Given the description of an element on the screen output the (x, y) to click on. 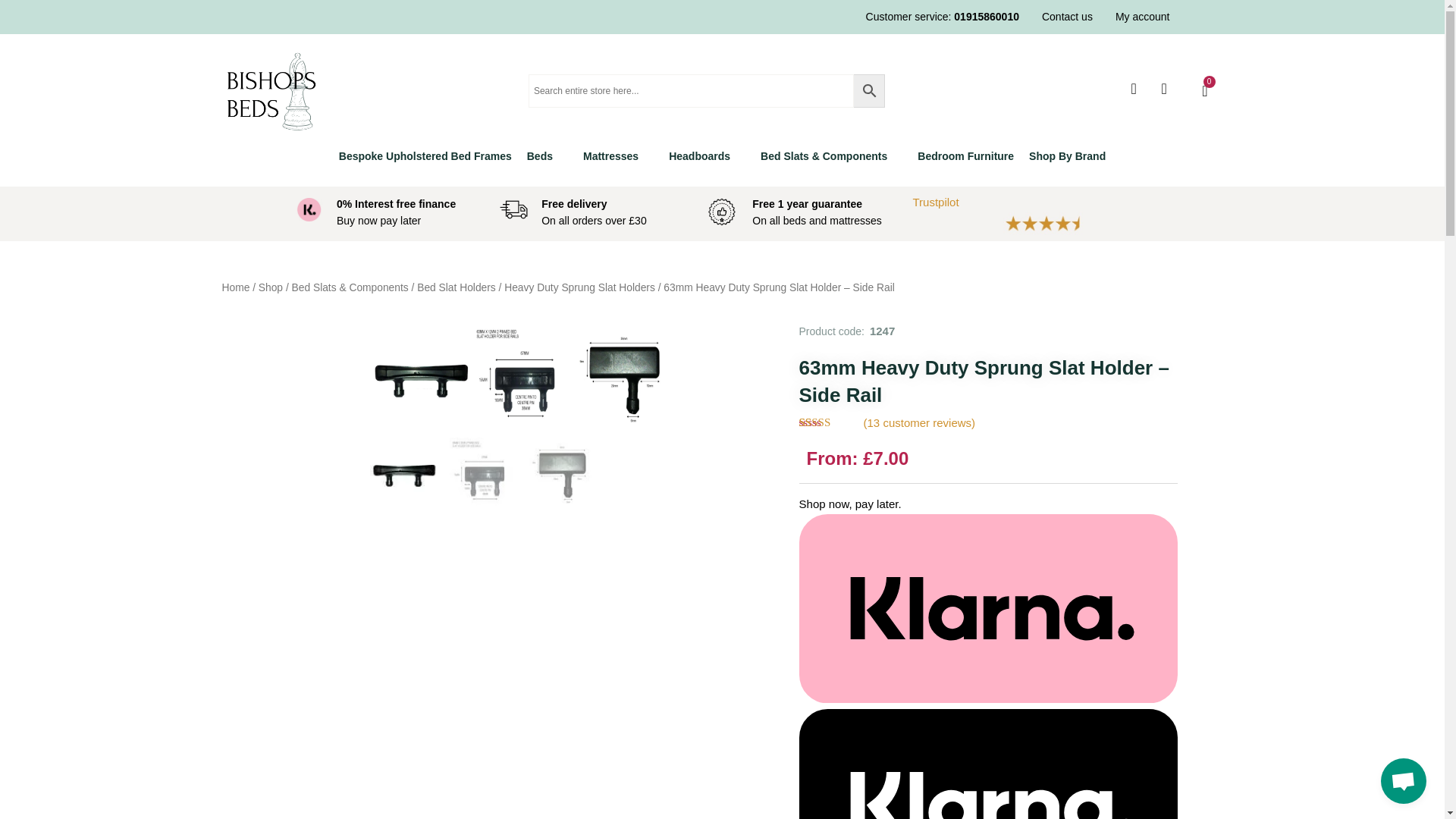
63mm-x-12mm-Side-Fixing-for-a-Metal-Bed-IMG1.jpg (523, 374)
Mattresses (618, 156)
Bespoke Upholstered Bed Frames (425, 156)
00914.jpg (420, 374)
Contact us (1067, 16)
Beds (547, 156)
My account (1142, 16)
